Given the description of an element on the screen output the (x, y) to click on. 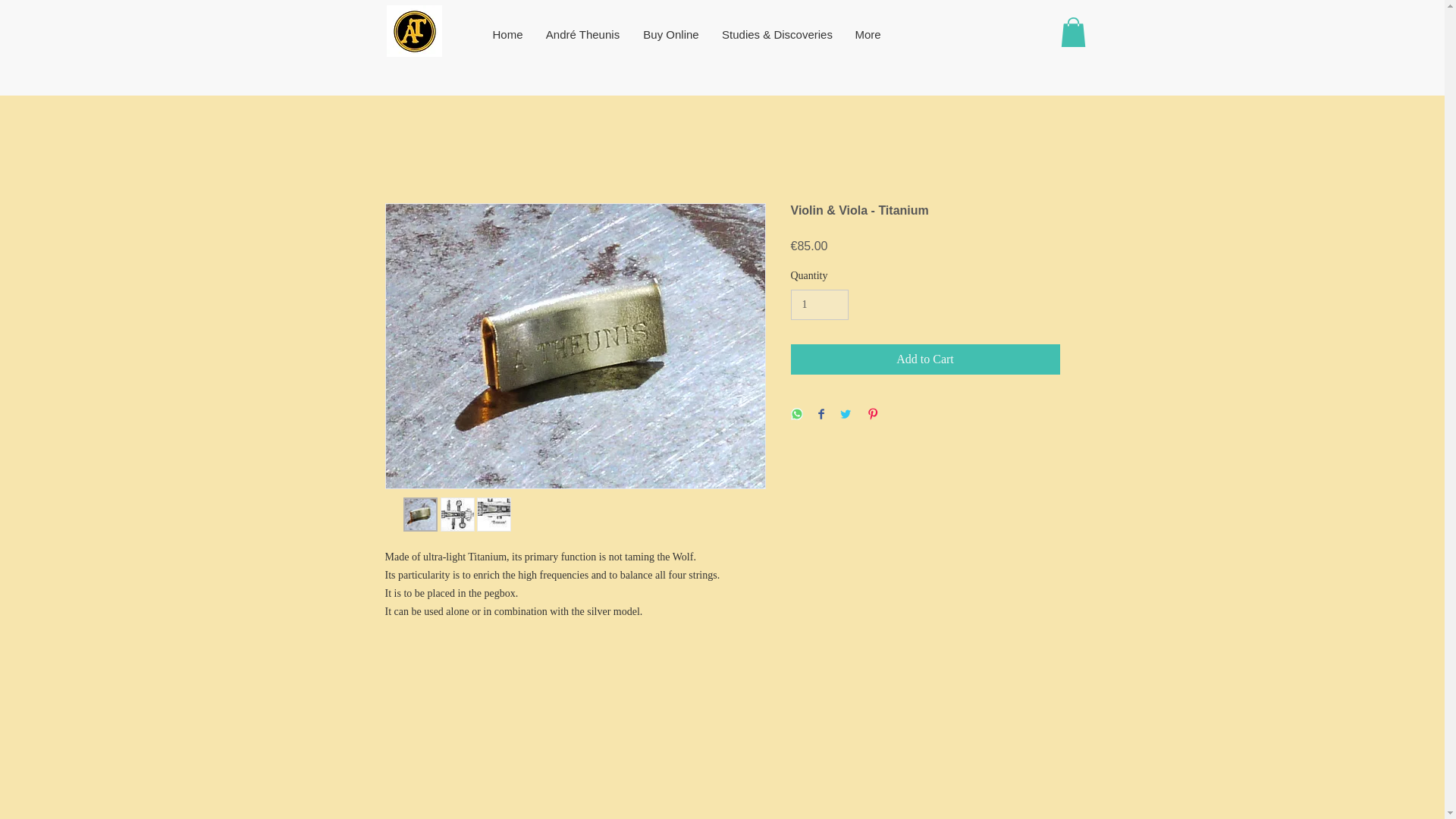
Home (507, 34)
Buy Online (670, 34)
1 (818, 305)
Add to Cart (924, 358)
